Given the description of an element on the screen output the (x, y) to click on. 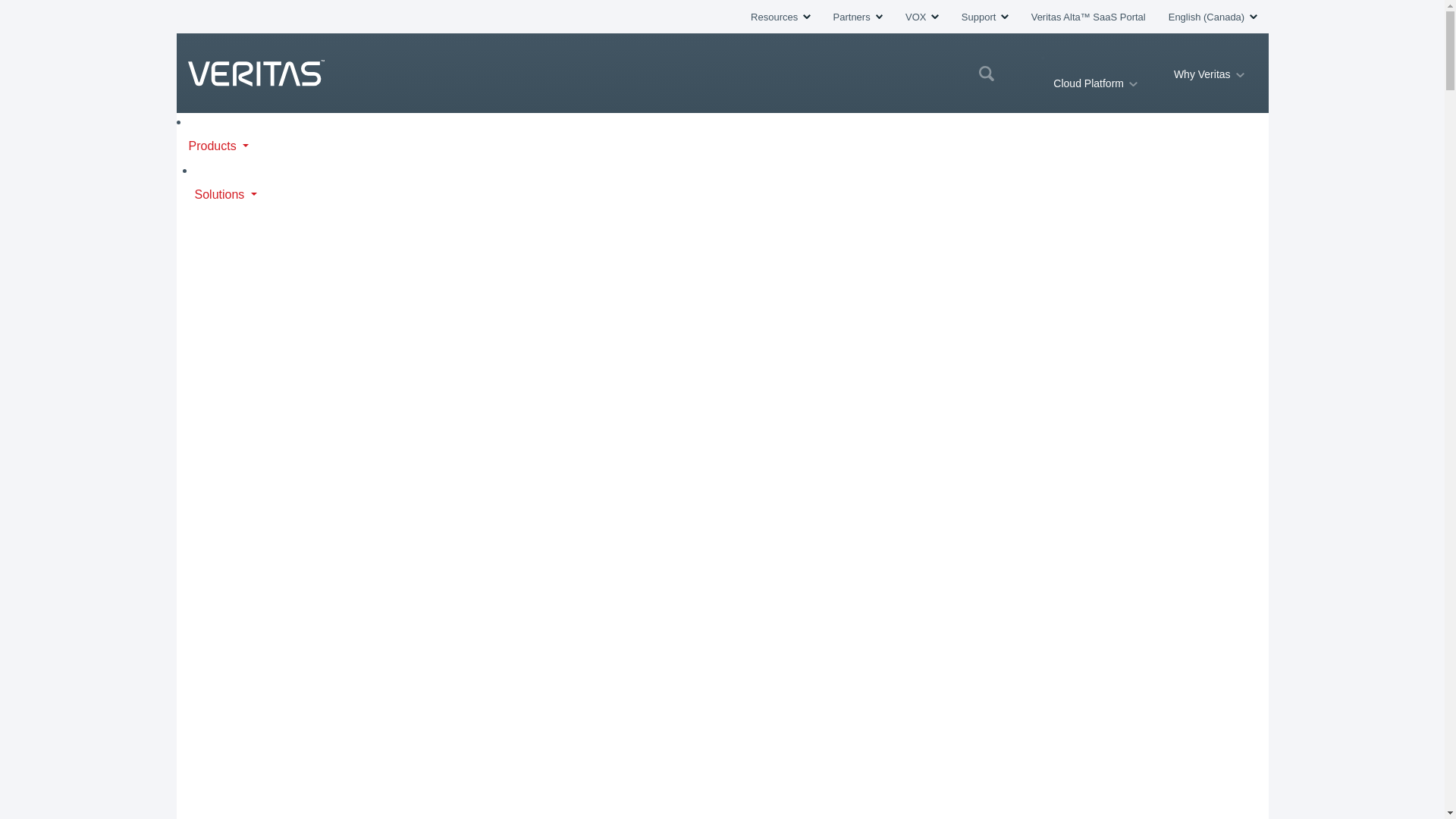
VOX (922, 16)
Support (984, 16)
Partners (857, 16)
Resources (780, 16)
